Given the description of an element on the screen output the (x, y) to click on. 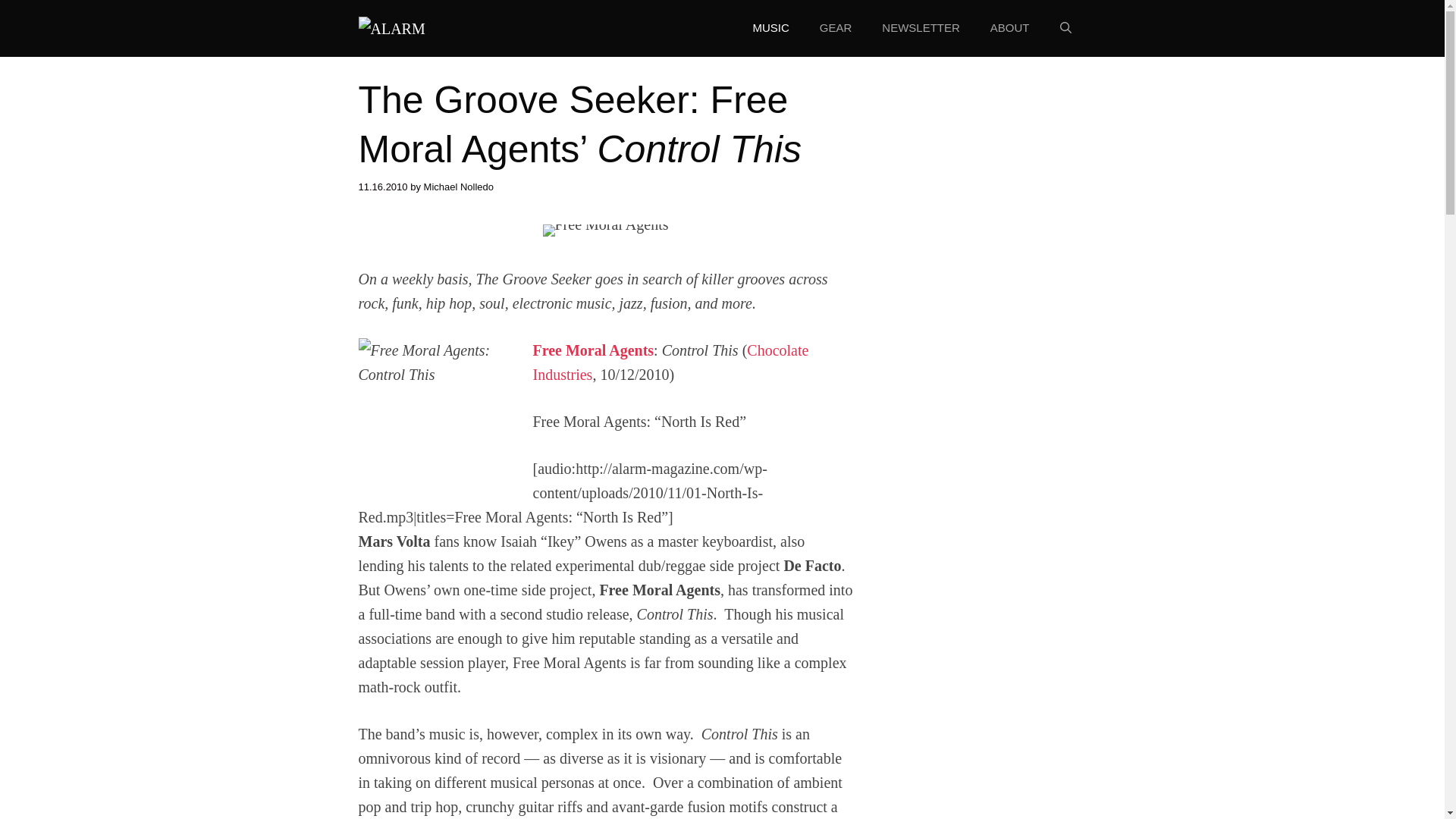
ABOUT (1010, 27)
ALARM (391, 28)
Free Moral Agents (592, 350)
MUSIC (769, 27)
NEWSLETTER (920, 27)
Free Moral Agents: Control This (433, 413)
Michael Nolledo (459, 186)
View all posts by Michael Nolledo (459, 186)
Chocolate Industries (670, 362)
ALARM (391, 27)
GEAR (836, 27)
